Given the description of an element on the screen output the (x, y) to click on. 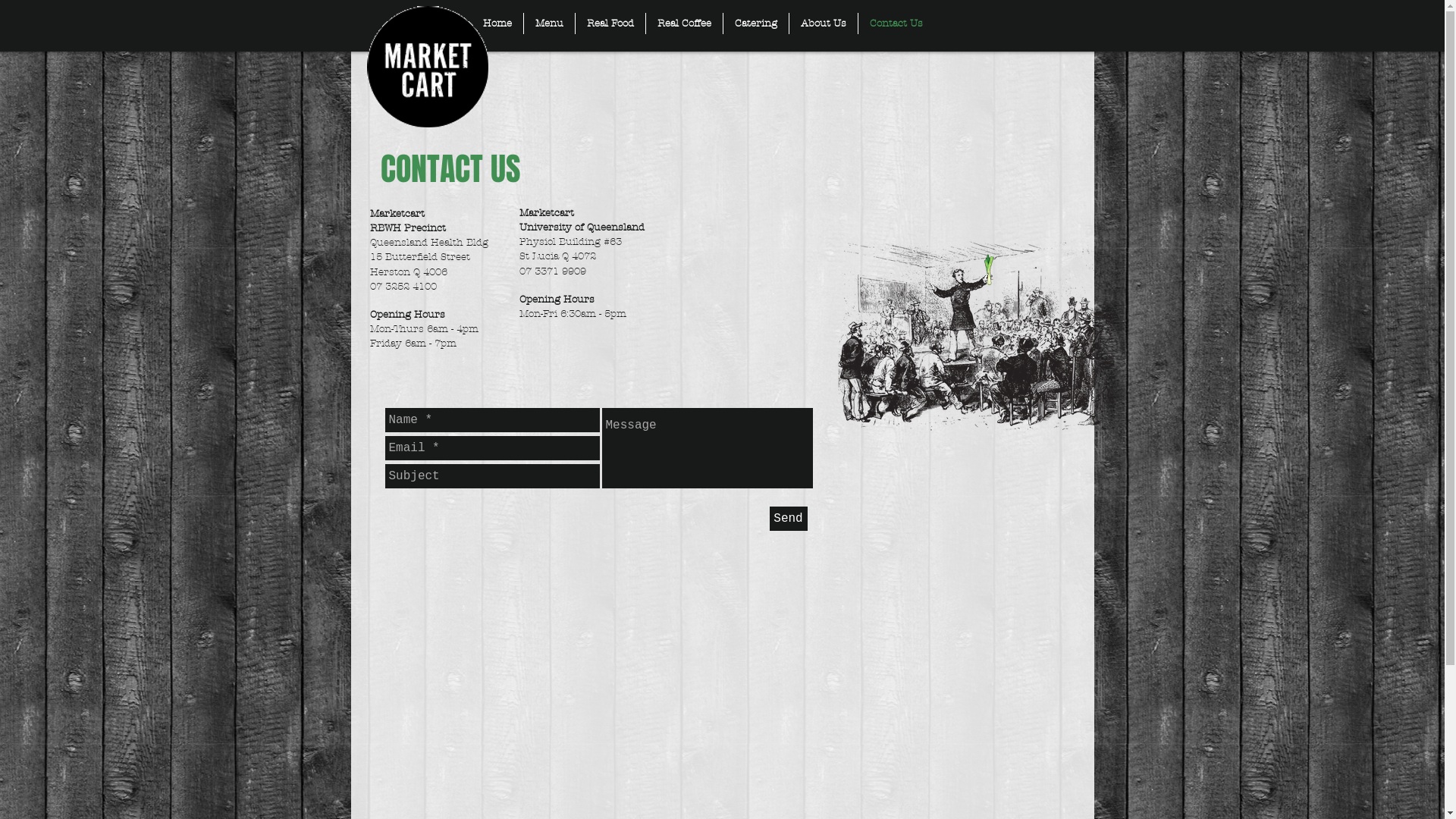
1_MarketCartLogo_CircleNotagSmall_BW.png Element type: hover (427, 66)
MeetingsGatherings.png Element type: hover (976, 334)
About Us Element type: text (822, 23)
Real Food Element type: text (609, 23)
Catering Element type: text (755, 23)
Send Element type: text (787, 518)
Menu Element type: text (548, 23)
Contact Us Element type: text (896, 23)
Real Coffee Element type: text (684, 23)
Home Element type: text (497, 23)
